Given the description of an element on the screen output the (x, y) to click on. 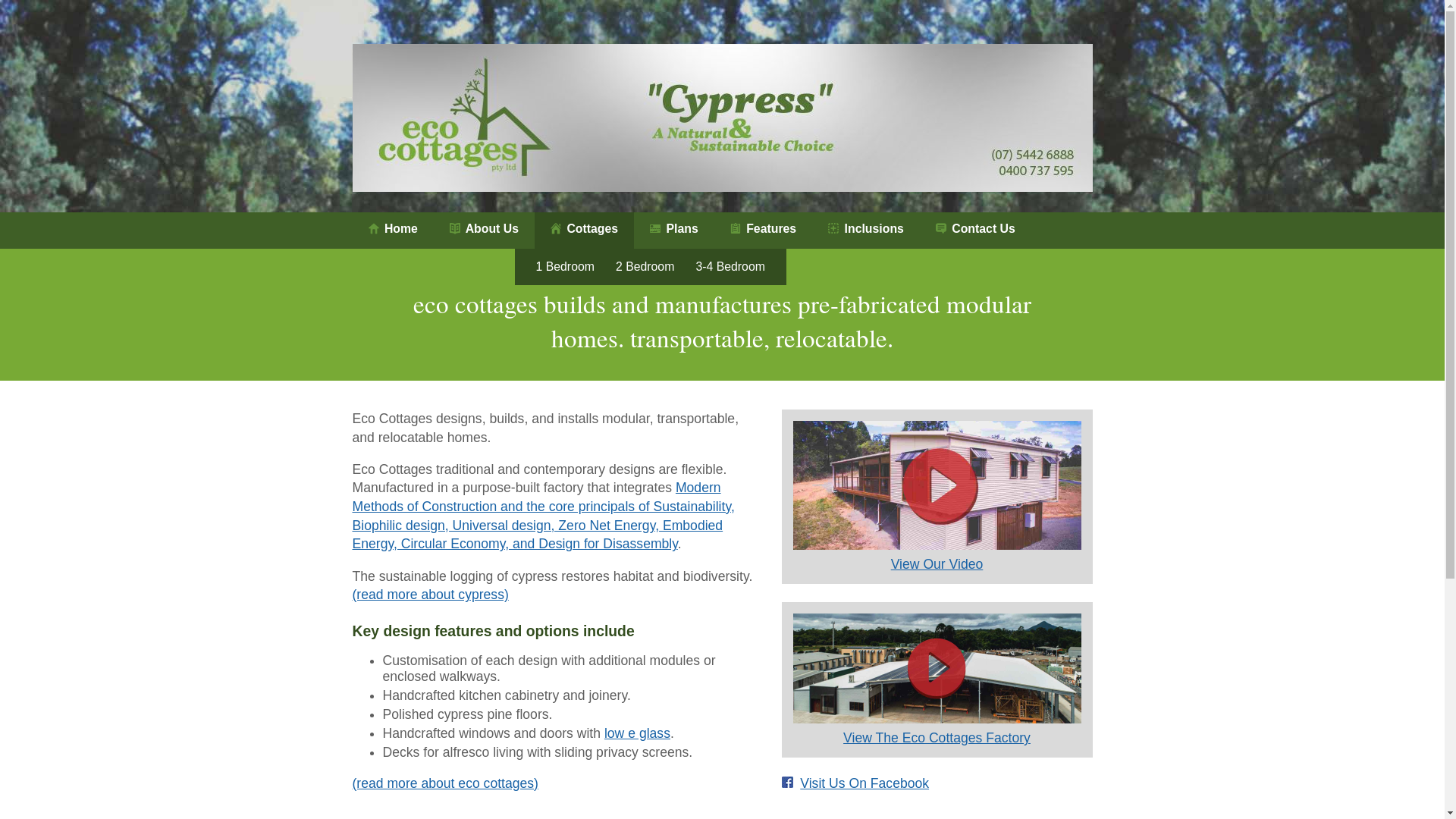
1 Bedroom Element type: text (559, 266)
View The Eco Cottages Factory Element type: text (936, 737)
3-4 Bedroom Element type: text (735, 266)
(read more about cypress) Element type: text (429, 594)
(read more about eco cottages) Element type: text (444, 782)
low e glass Element type: text (637, 732)
2 Bedroom Element type: text (644, 266)
Visit Us On Facebook Element type: text (864, 782)
View Our Video Element type: text (937, 563)
